Given the description of an element on the screen output the (x, y) to click on. 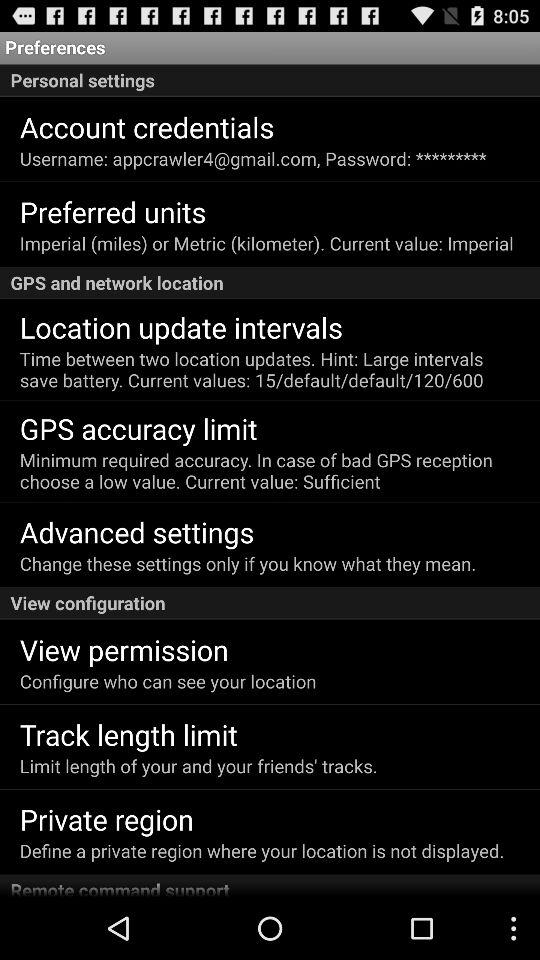
turn off gps and network app (270, 282)
